Given the description of an element on the screen output the (x, y) to click on. 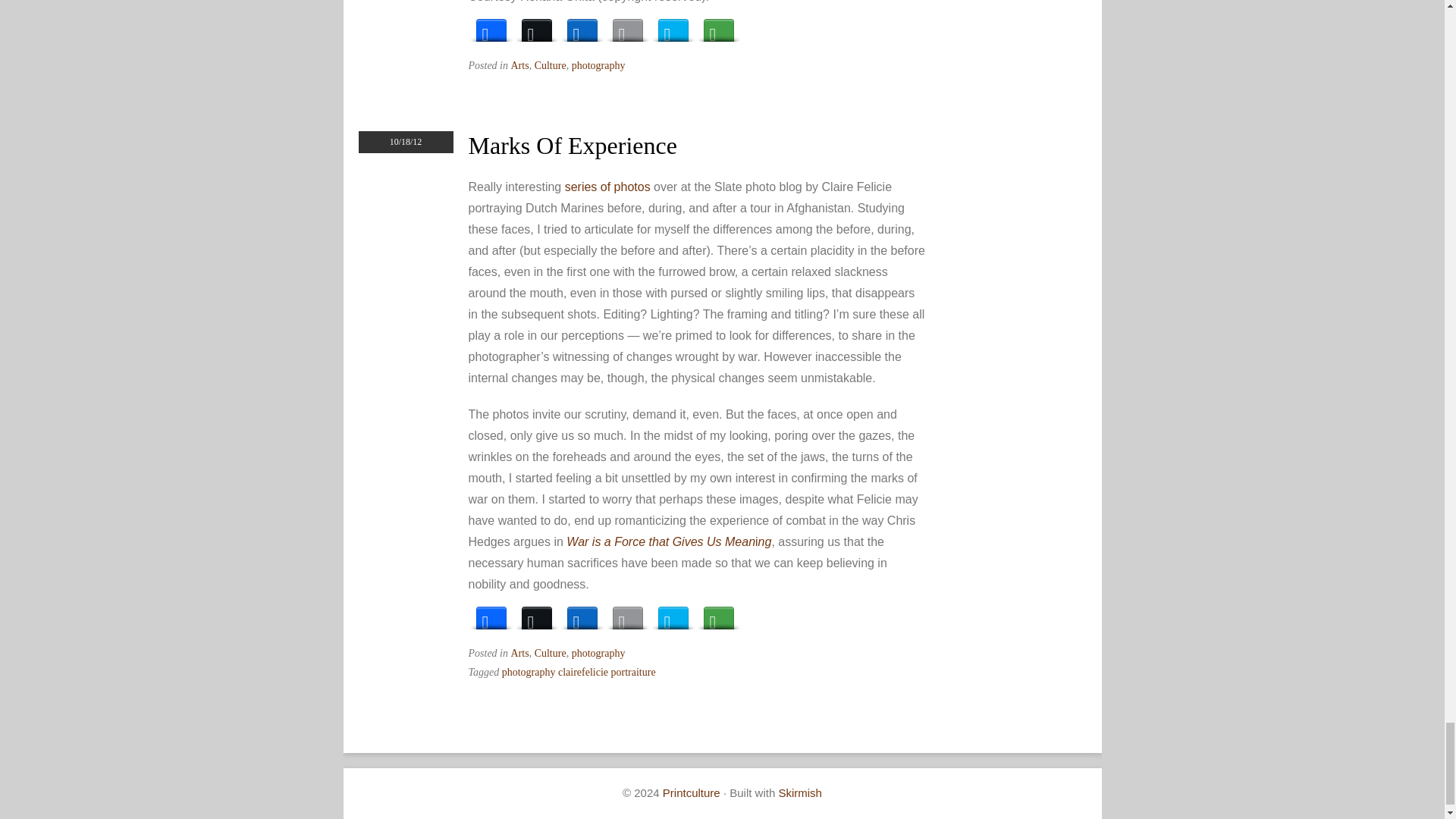
Email This (627, 26)
Marks Of Experience (572, 144)
photography clairefelicie portraiture (579, 672)
Facebook (490, 614)
War is a Force that Gives Us Meaning (668, 541)
Claire Felicie - Marines before, during, after Afghanistan (607, 186)
Culture (550, 653)
photography (599, 653)
PrintFriendly (672, 26)
LinkedIn (582, 614)
series of photos (607, 186)
Arts (520, 65)
LinkedIn (582, 26)
Facebook (490, 26)
War is a Force that Gives Us Meaning (668, 541)
